Given the description of an element on the screen output the (x, y) to click on. 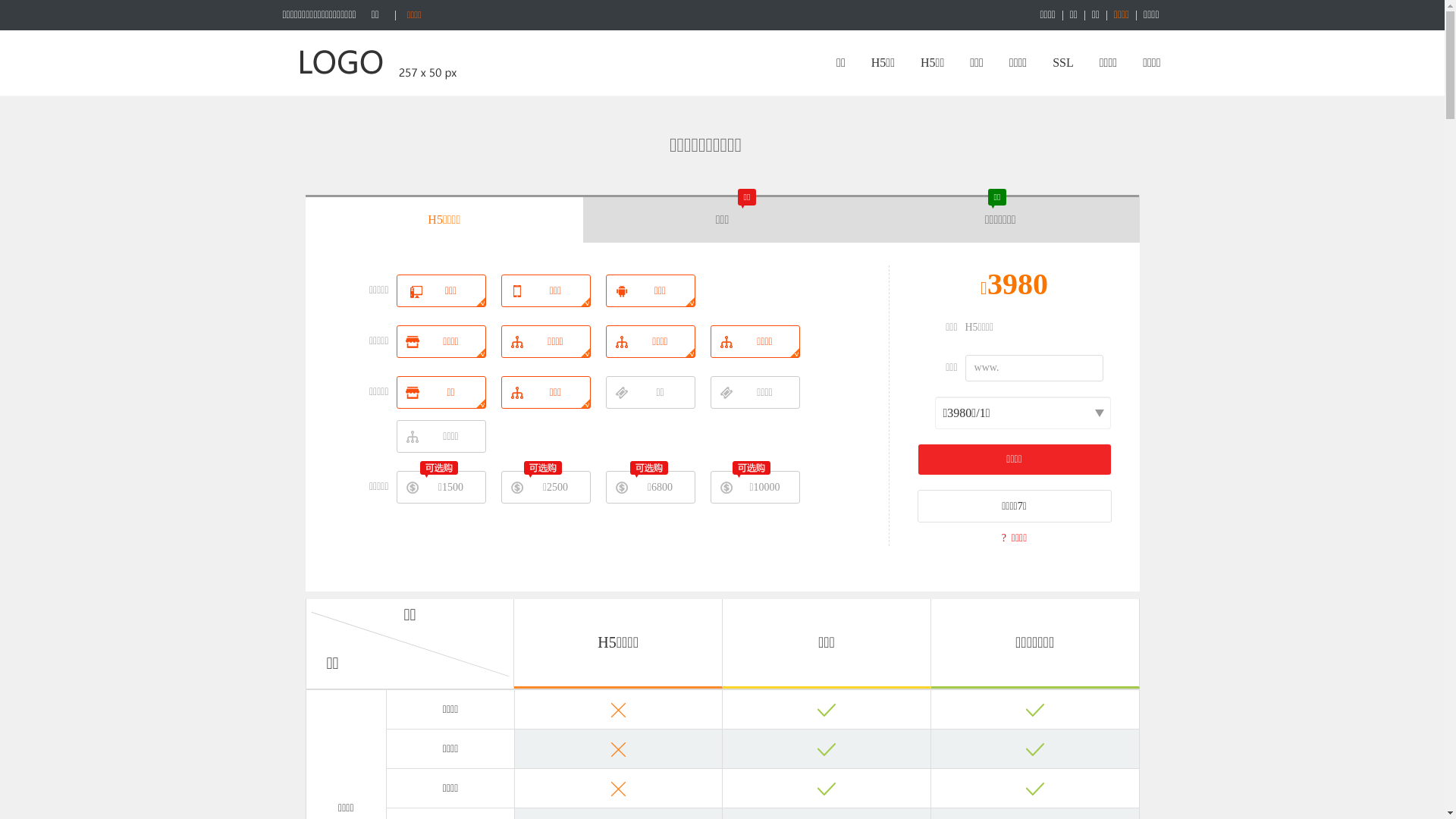
SSL Element type: text (1062, 62)
